Given the description of an element on the screen output the (x, y) to click on. 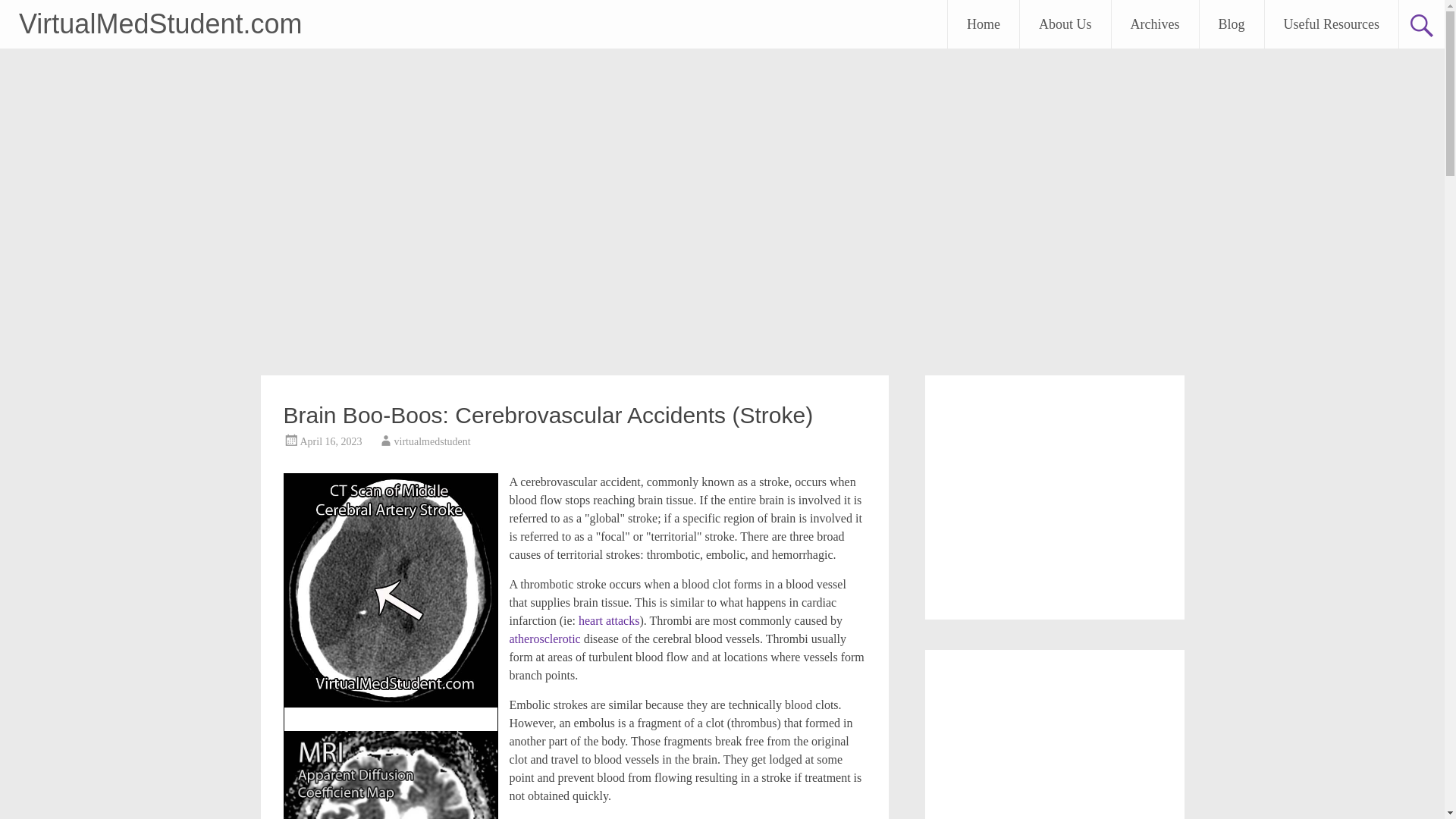
Archives (1155, 24)
April 16, 2023 (330, 441)
Useful Resources (1331, 24)
virtualmedstudent (432, 441)
Home (983, 24)
Basal Ganglia Indirect Pathway (1053, 745)
heart attacks (608, 620)
About Us (1065, 24)
atherosclerotic (544, 638)
VirtualMedStudent.com (160, 23)
